Given the description of an element on the screen output the (x, y) to click on. 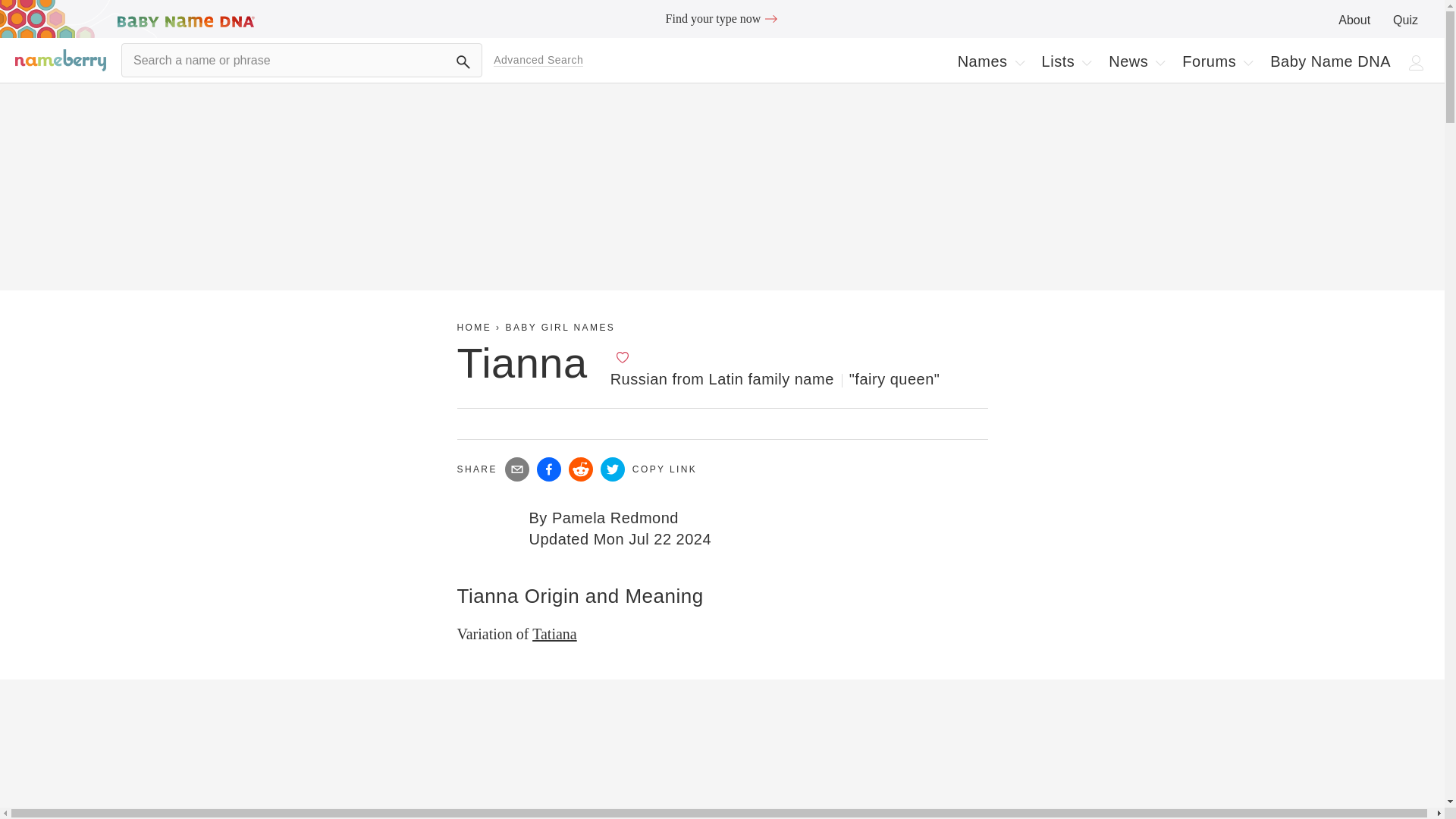
Chevron - Down (1160, 62)
User (1416, 62)
Baby Name DNA (1329, 61)
Chevron - Down (1086, 62)
Advanced Search (538, 60)
HOME (474, 327)
By Pamela Redmond (603, 517)
Tatiana (1066, 61)
Chevron - Down (554, 633)
